Given the description of an element on the screen output the (x, y) to click on. 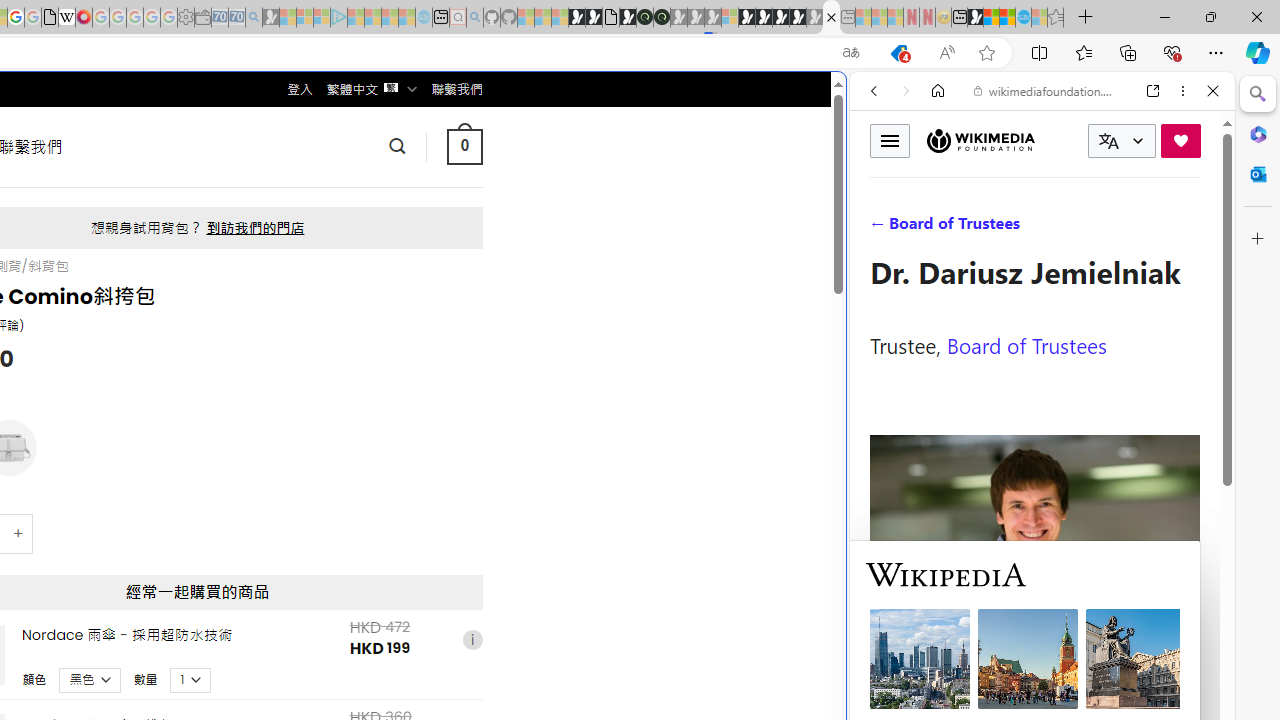
This site has coupons! Shopping in Microsoft Edge, 4 (898, 53)
Wikimedia Foundation (980, 141)
CURRENT LANGUAGE: (1121, 141)
Toggle menu (890, 140)
